Given the description of an element on the screen output the (x, y) to click on. 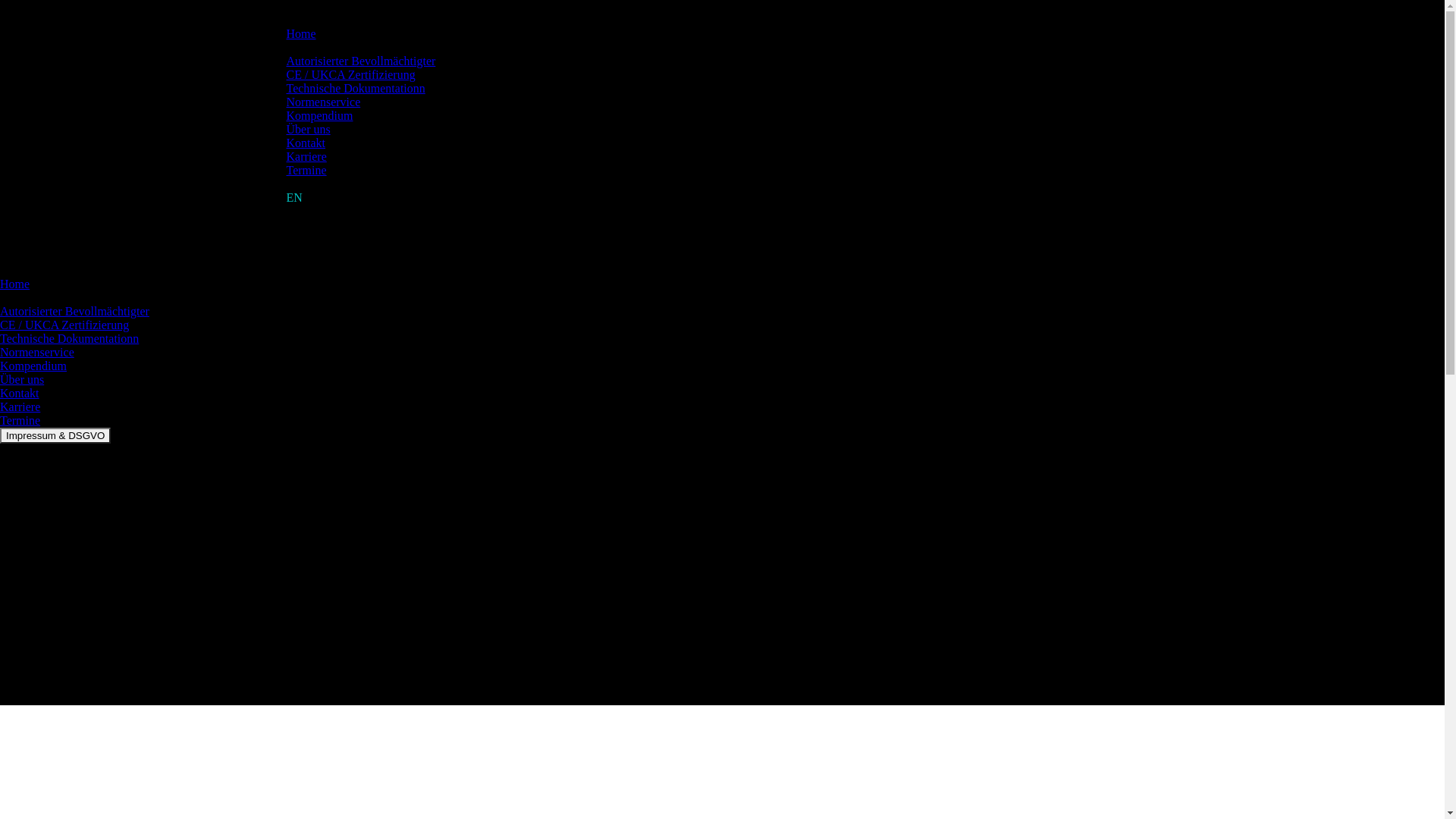
Kontakt Element type: text (306, 142)
EN Element type: text (294, 197)
Home Element type: text (301, 33)
Normenservice Element type: text (323, 101)
Impressum & DSGVO Element type: text (55, 435)
Karriere Element type: text (20, 406)
Technische Dokumentationn Element type: text (69, 338)
CE / UKCA Zertifizierung Element type: text (350, 74)
Karriere Element type: text (306, 156)
Termine Element type: text (20, 420)
Technische Dokumentationn Element type: text (355, 87)
CE / UKCA Zertifizierung Element type: text (64, 324)
Home Element type: text (14, 283)
Termine Element type: text (306, 169)
Kontakt Element type: text (19, 392)
Normenservice Element type: text (37, 351)
Kompendium Element type: text (33, 365)
Kompendium Element type: text (319, 115)
